Given the description of an element on the screen output the (x, y) to click on. 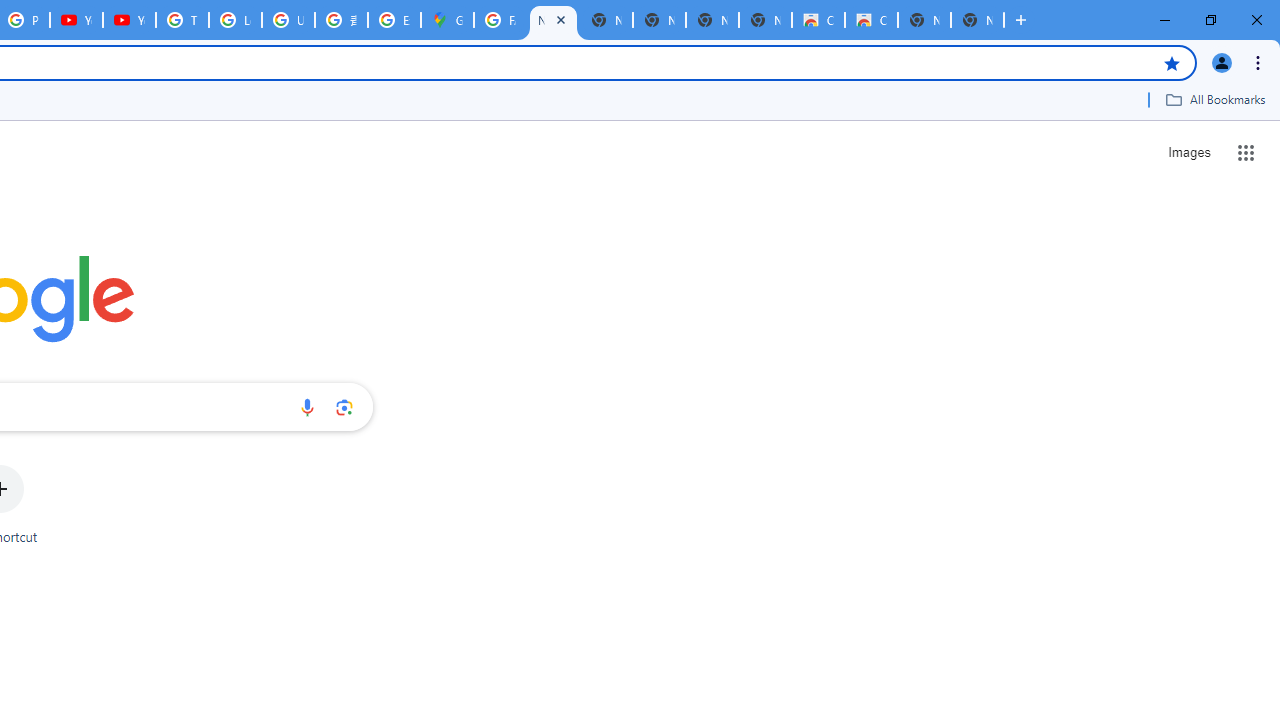
Classic Blue - Chrome Web Store (871, 20)
